Given the description of an element on the screen output the (x, y) to click on. 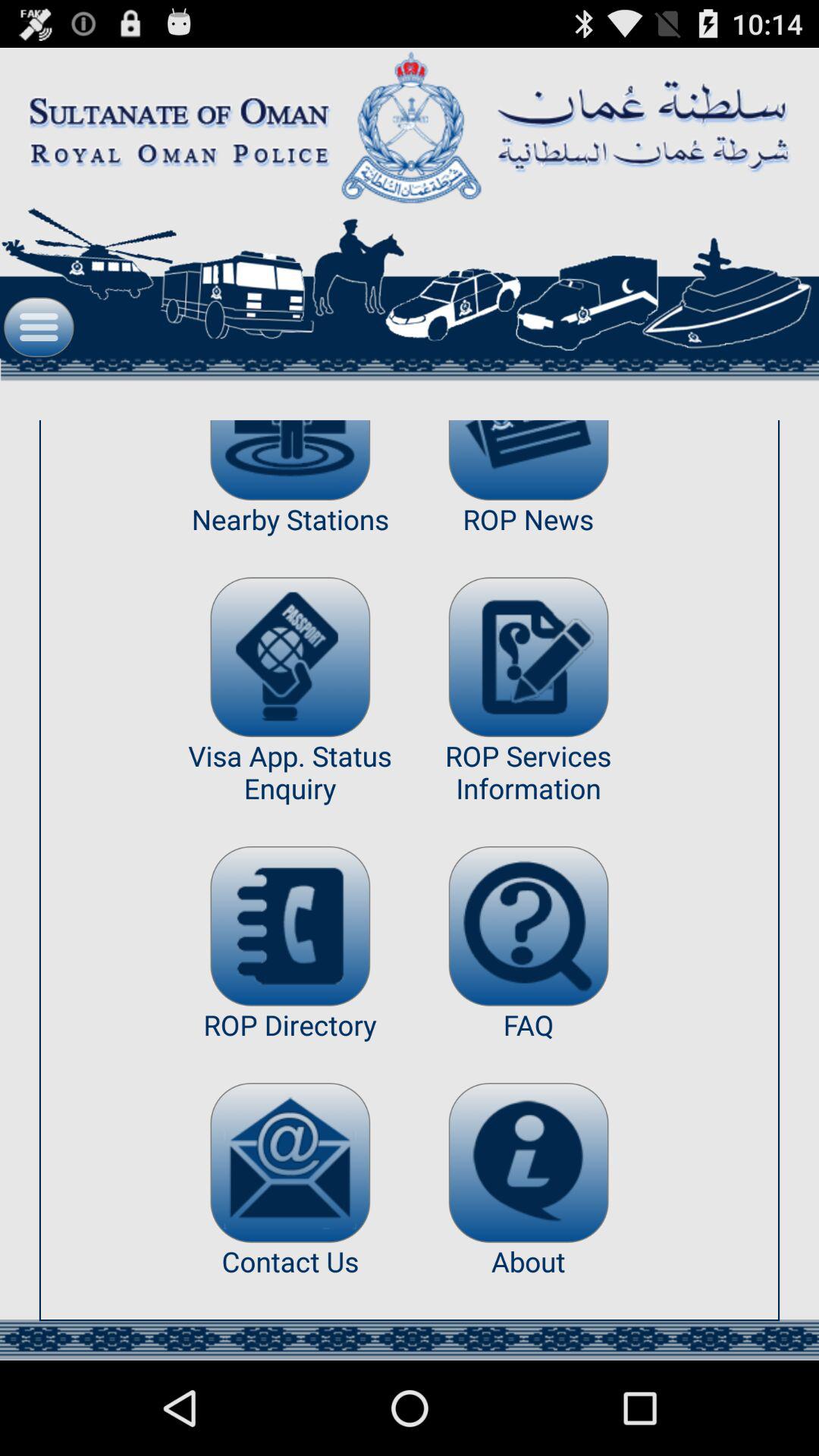
press app next to nearby stations icon (528, 657)
